Given the description of an element on the screen output the (x, y) to click on. 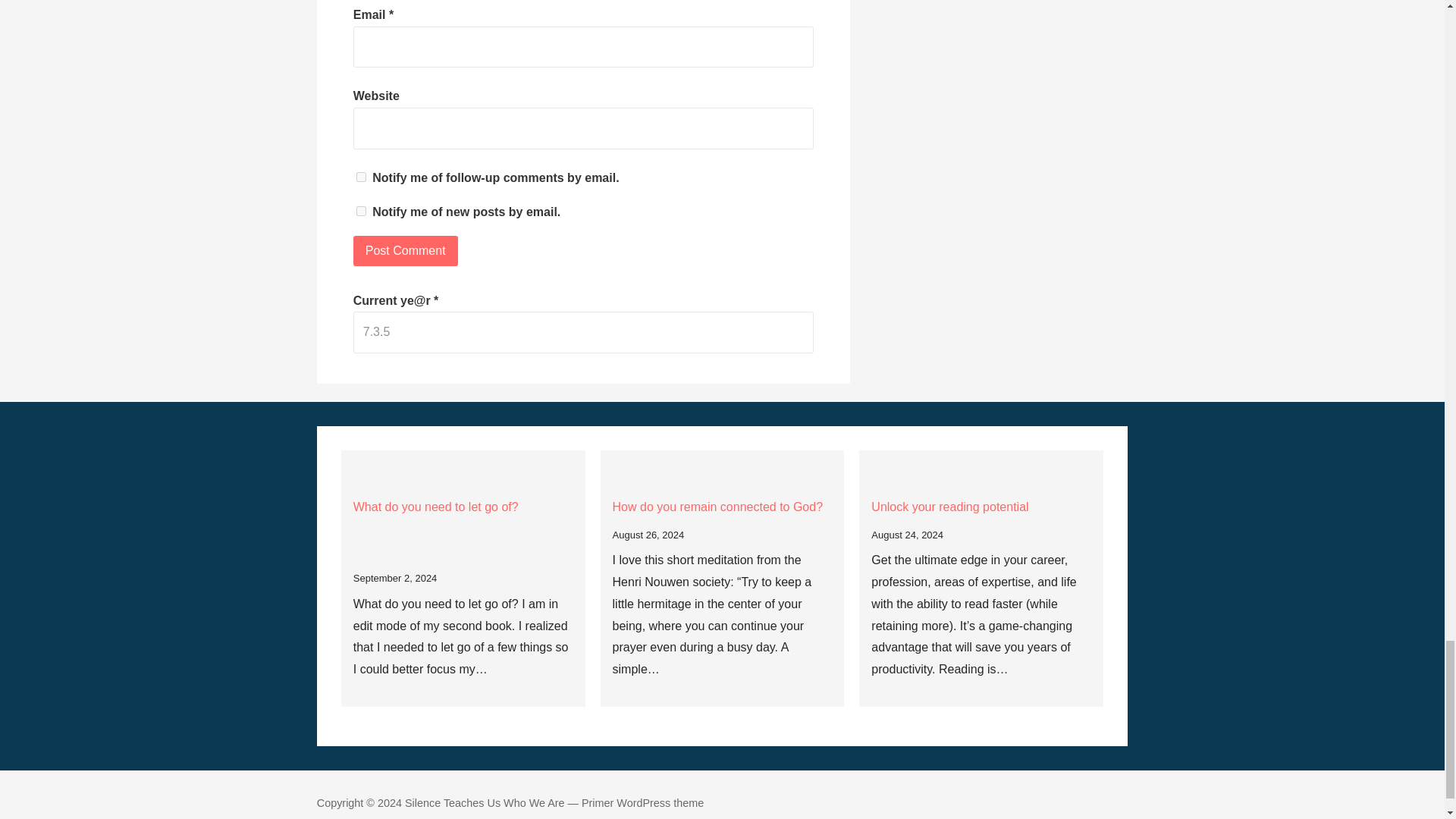
How do you remain connected to God? (722, 507)
What do you need to let go of? (463, 528)
Post Comment (405, 250)
Post Comment (405, 250)
subscribe (361, 176)
7.3.5 (583, 332)
subscribe (361, 211)
